Given the description of an element on the screen output the (x, y) to click on. 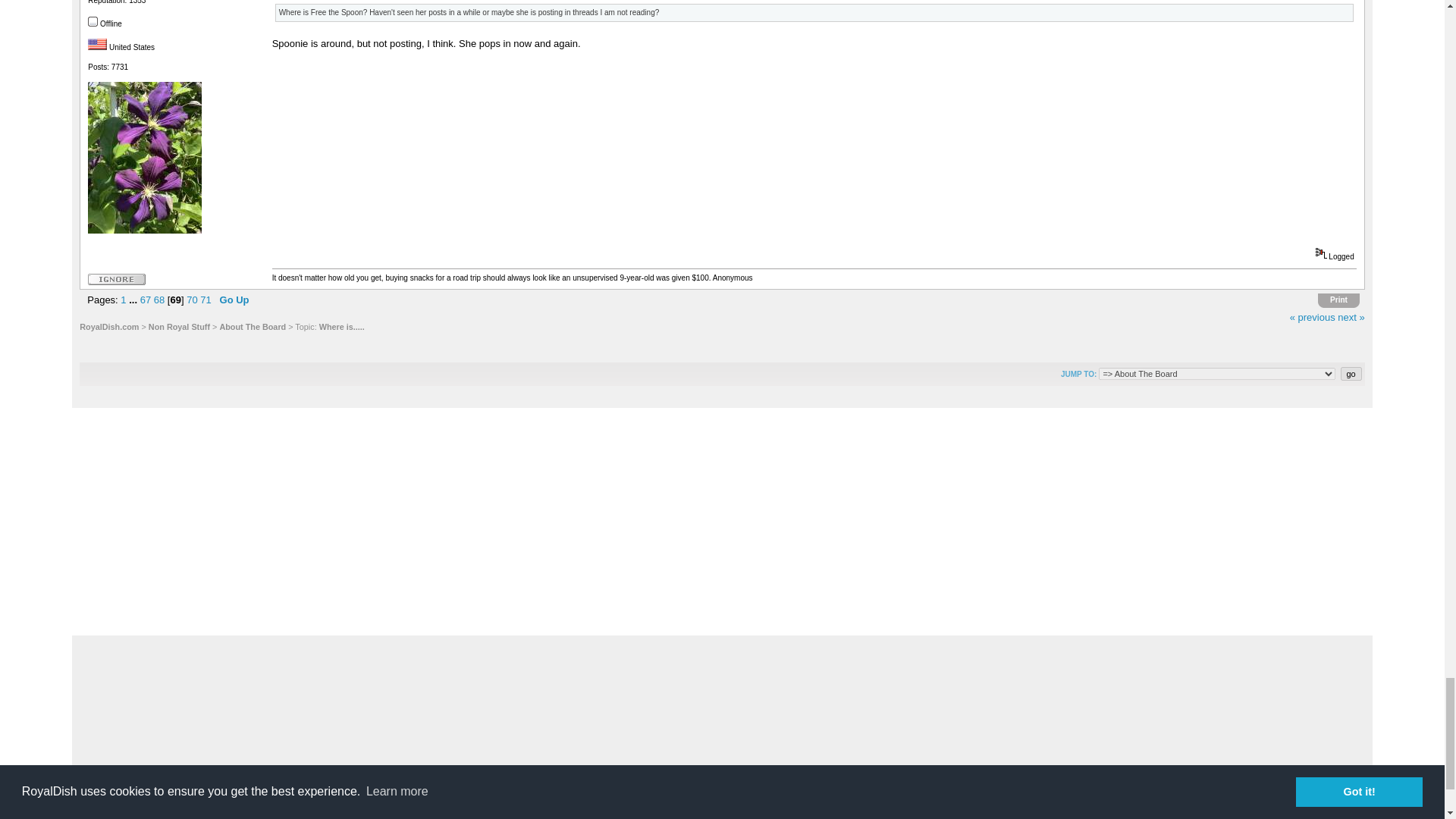
go (1350, 373)
